Given the description of an element on the screen output the (x, y) to click on. 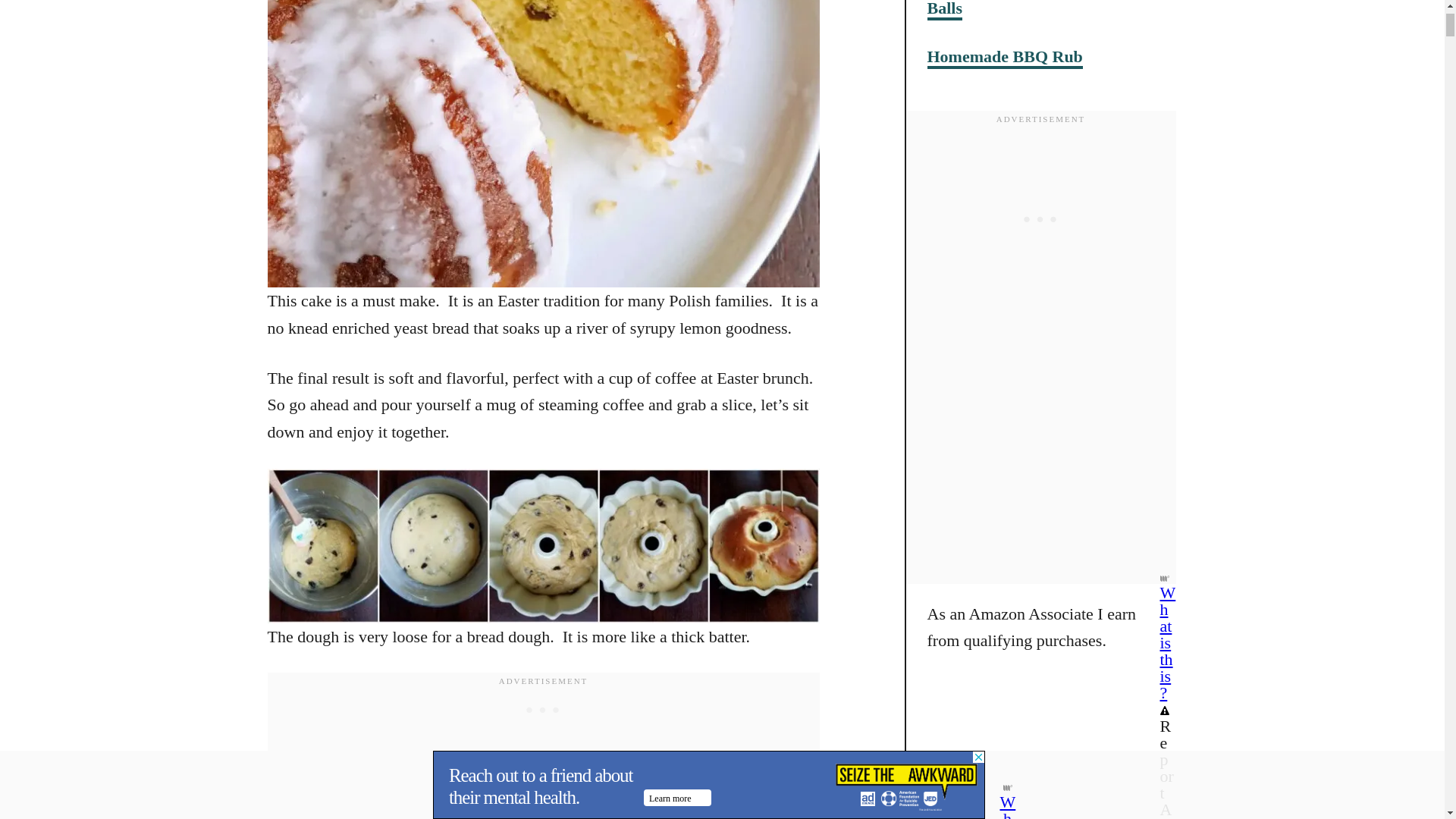
Polish Lemon Babka 1 (542, 545)
3rd party ad content (542, 709)
